Given the description of an element on the screen output the (x, y) to click on. 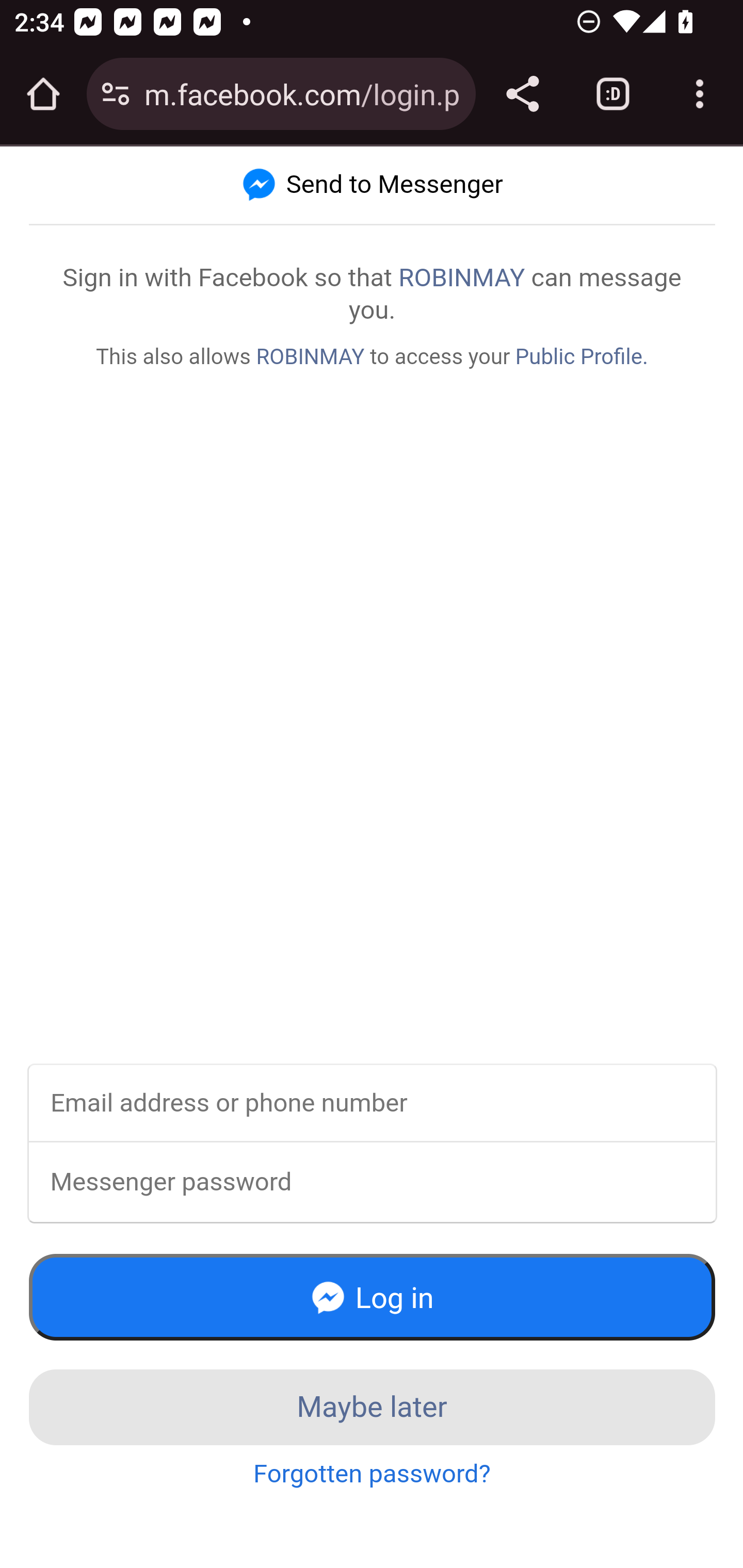
Open the home page (43, 93)
Connection is secure (115, 93)
Share (522, 93)
Switch or close tabs (612, 93)
Customize and control Google Chrome (699, 93)
ROBINMAY (461, 277)
ROBINMAY (310, 356)
Public Profile. (582, 356)
Log in (372, 1296)
Maybe later (372, 1406)
Forgotten password? (372, 1473)
